Given the description of an element on the screen output the (x, y) to click on. 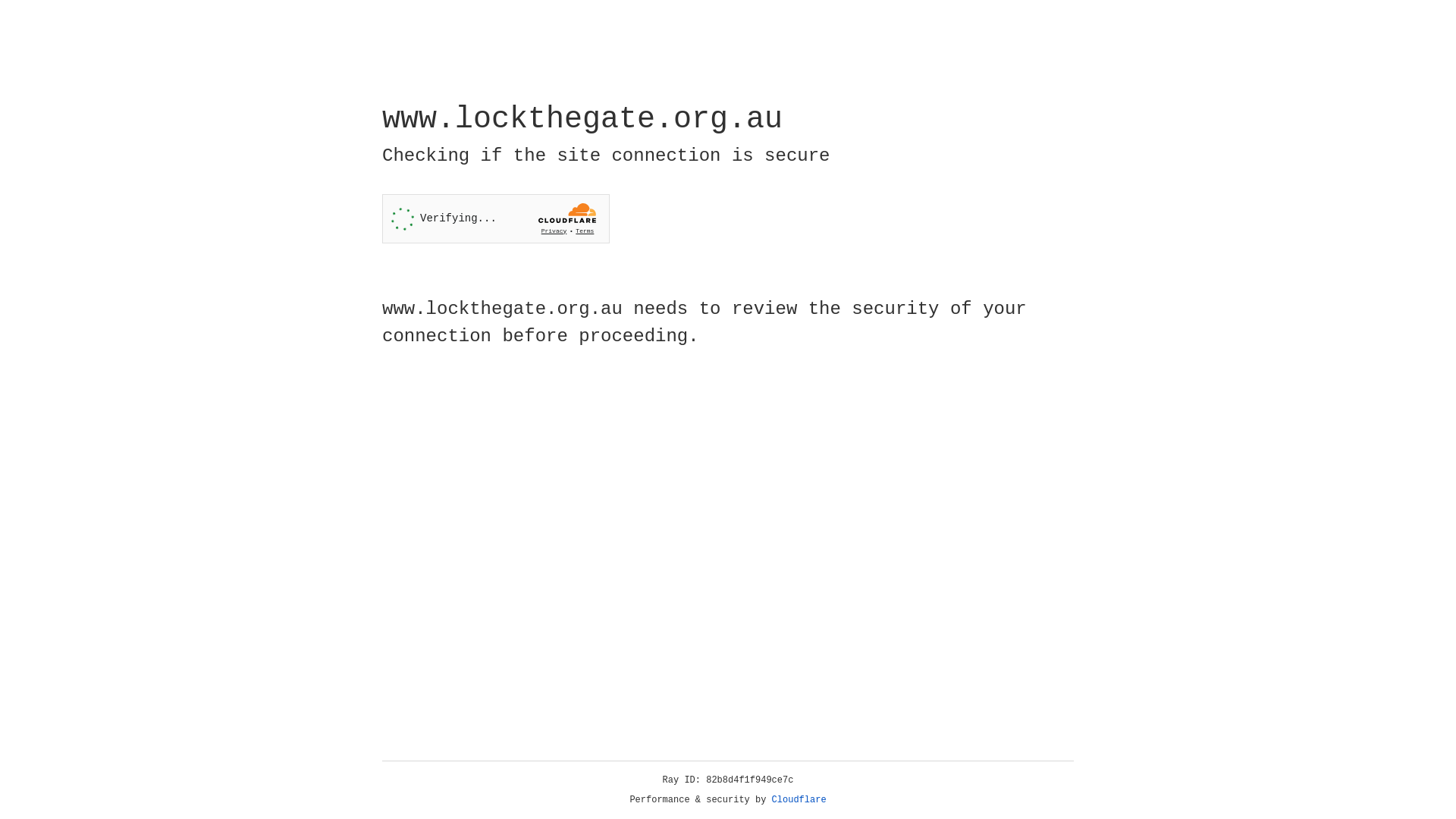
Widget containing a Cloudflare security challenge Element type: hover (495, 218)
Cloudflare Element type: text (798, 799)
